Given the description of an element on the screen output the (x, y) to click on. 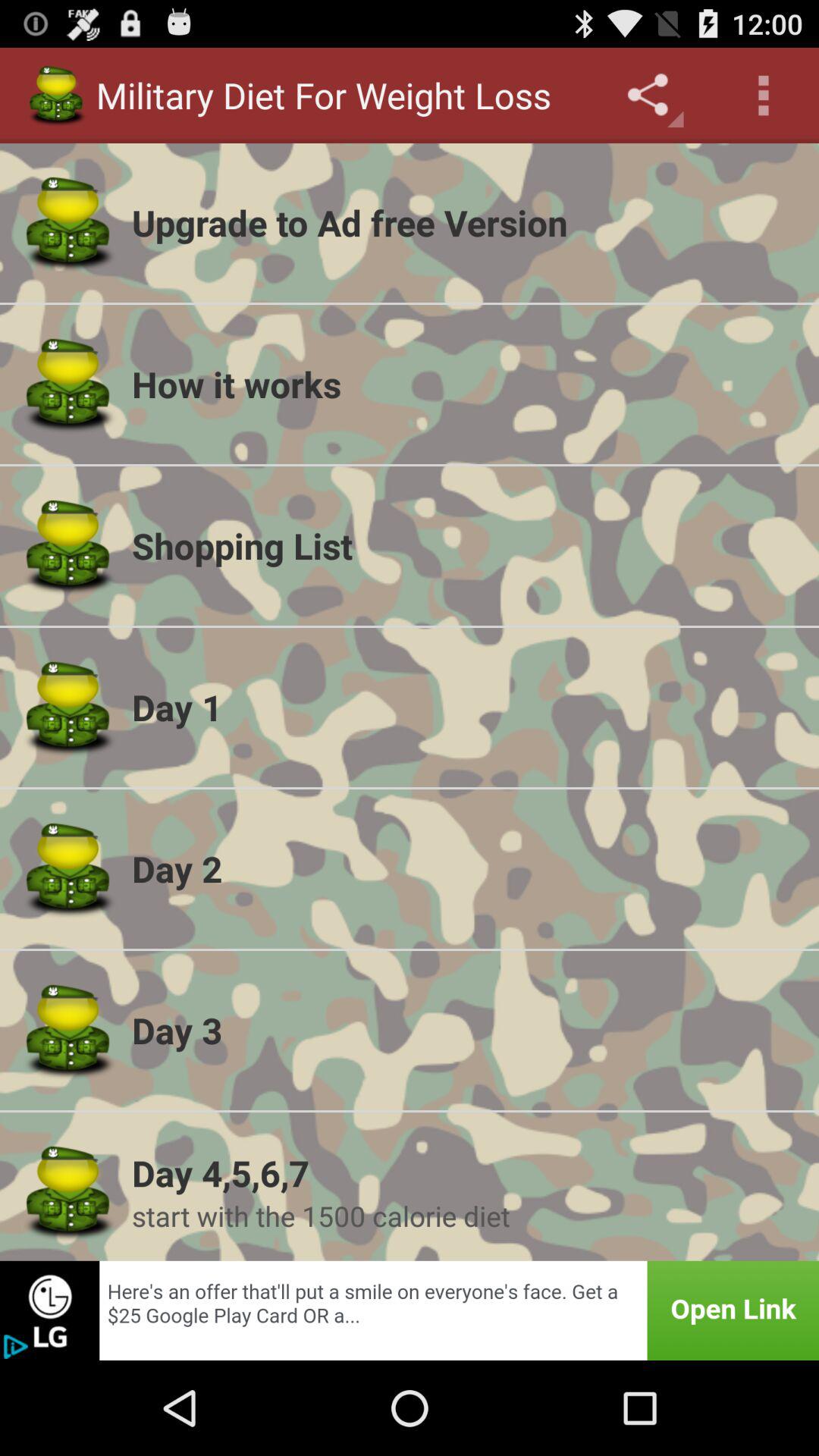
choose day 3 icon (465, 1030)
